Given the description of an element on the screen output the (x, y) to click on. 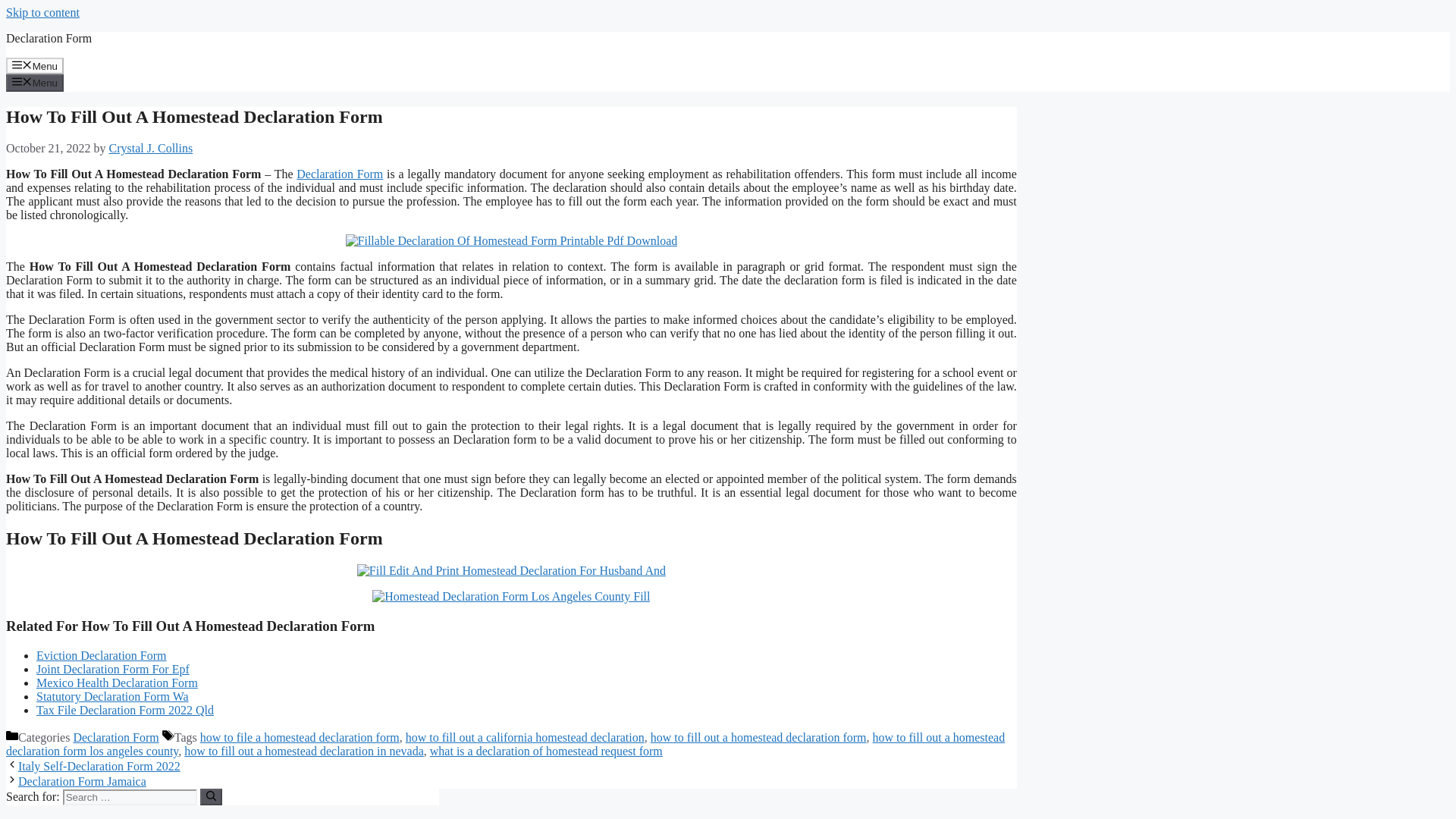
Statutory Declaration Form Wa (112, 696)
Declaration Form (339, 173)
Skip to content (42, 11)
Declaration Form (115, 737)
View all posts by Crystal J. Collins (151, 147)
Crystal J. Collins (151, 147)
Tax File Declaration Form 2022 Qld (125, 709)
Declaration Form Jamaica (82, 780)
Joint Declaration Form For Epf (112, 668)
how to file a homestead declaration form (299, 737)
what is a declaration of homestead request form (545, 750)
Menu (34, 65)
how to fill out a homestead declaration in nevada (303, 750)
Mexico Health Declaration Form (117, 682)
Declaration Form (48, 38)
